Given the description of an element on the screen output the (x, y) to click on. 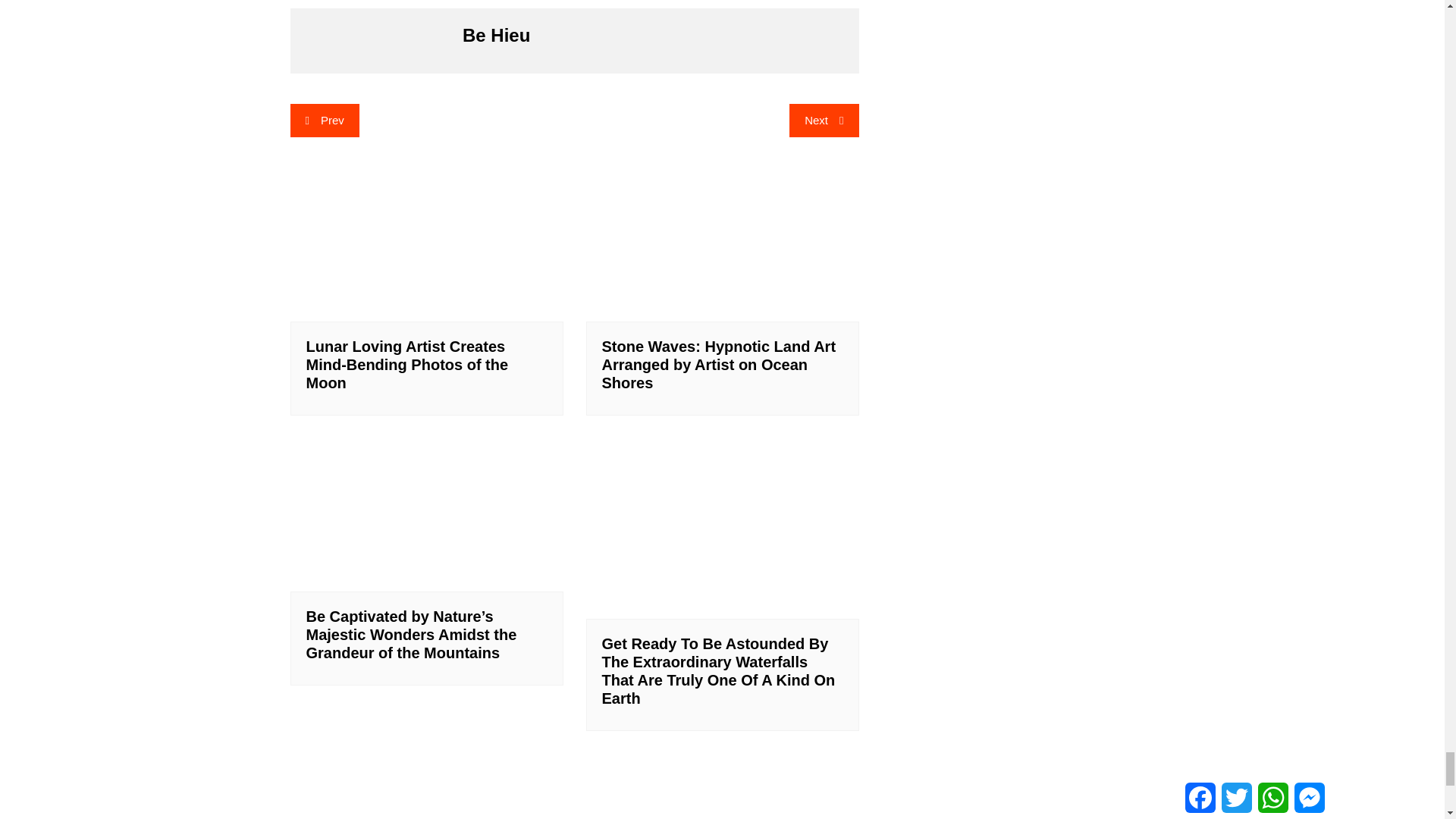
Next (824, 120)
Prev (323, 120)
Lunar Loving Artist Creates Mind-Bending Photos of the Moon (406, 364)
